Given the description of an element on the screen output the (x, y) to click on. 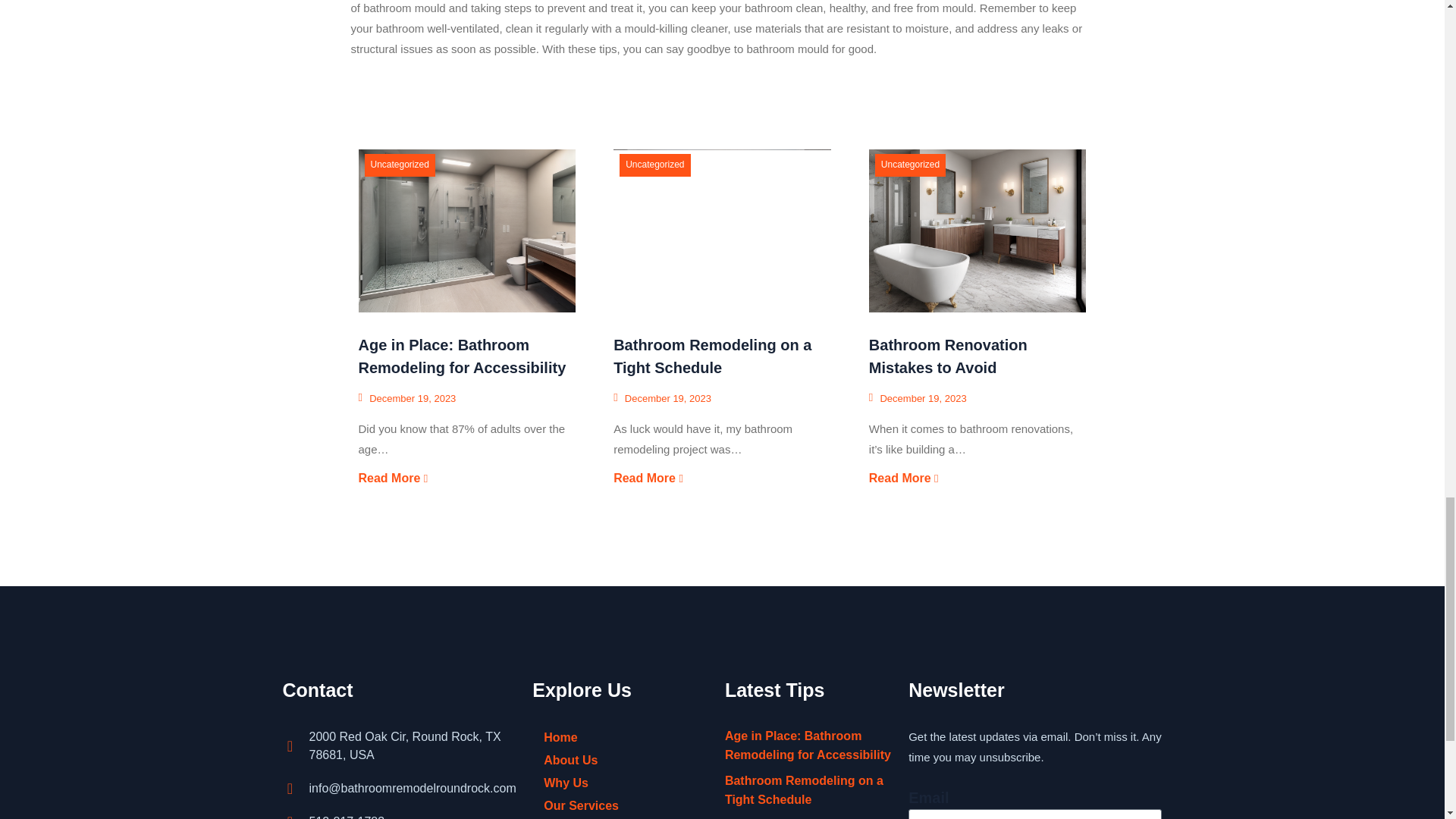
About Us (621, 760)
Read More (647, 478)
Uncategorized (398, 163)
Bathroom Remodeling on a Tight Schedule (711, 355)
Why Us (621, 783)
Home (621, 737)
Bathroom Remodeling on a Tight Schedule (721, 230)
Read More (393, 478)
Bathroom Renovation Mistakes to Avoid (948, 355)
Age in Place: Bathroom Remodeling for Accessibility (466, 230)
